Given the description of an element on the screen output the (x, y) to click on. 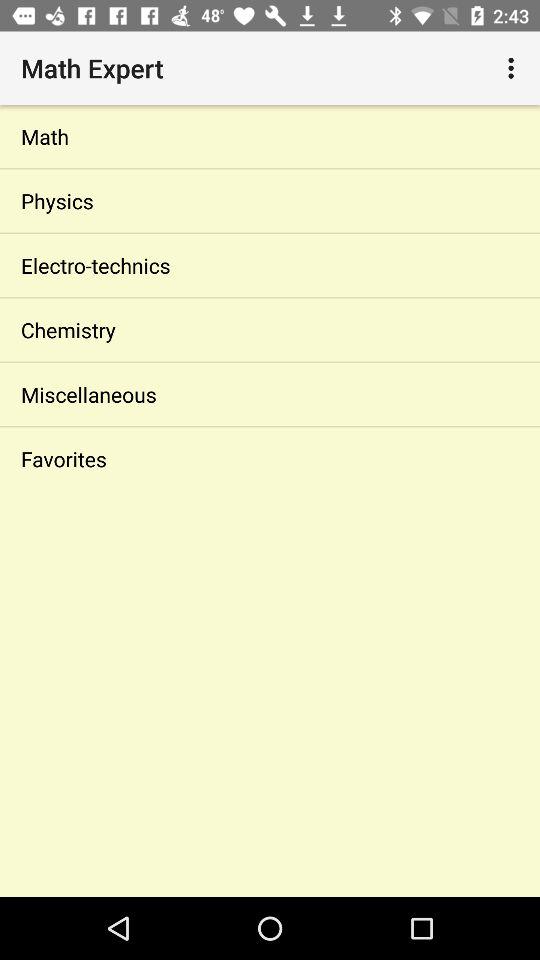
tap miscellaneous app (270, 394)
